Given the description of an element on the screen output the (x, y) to click on. 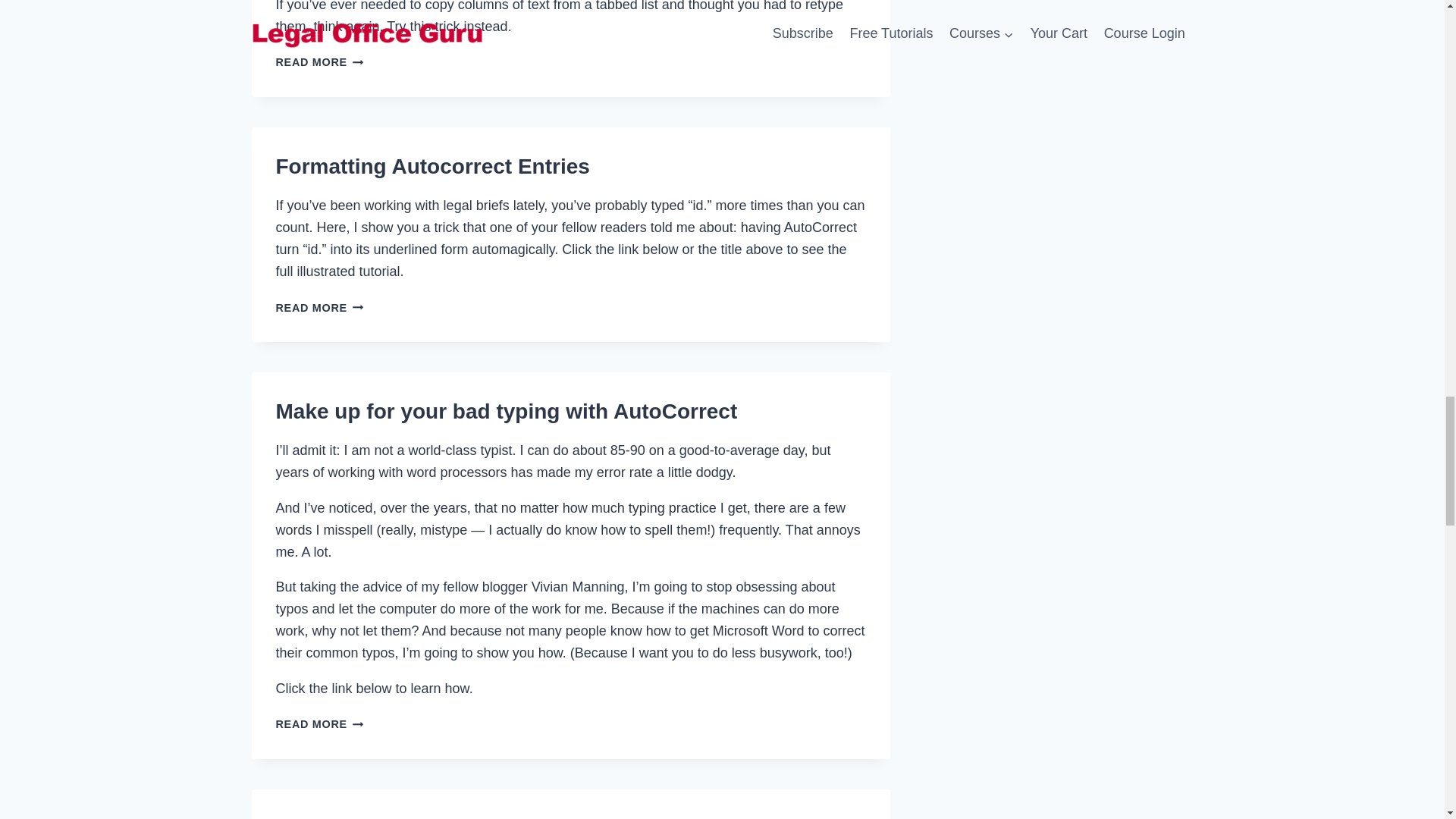
Formatting Autocorrect Entries (432, 166)
